Given the description of an element on the screen output the (x, y) to click on. 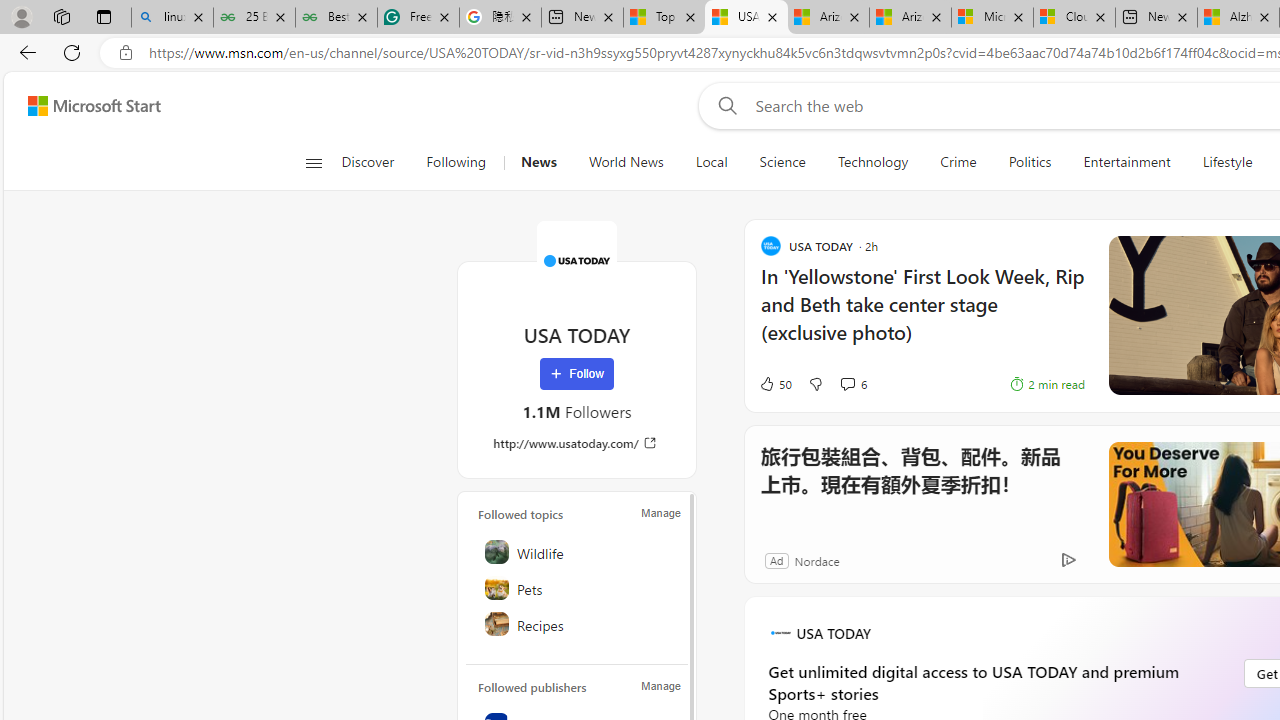
Cloud Computing Services | Microsoft Azure (1074, 17)
Pets (578, 587)
